Given the description of an element on the screen output the (x, y) to click on. 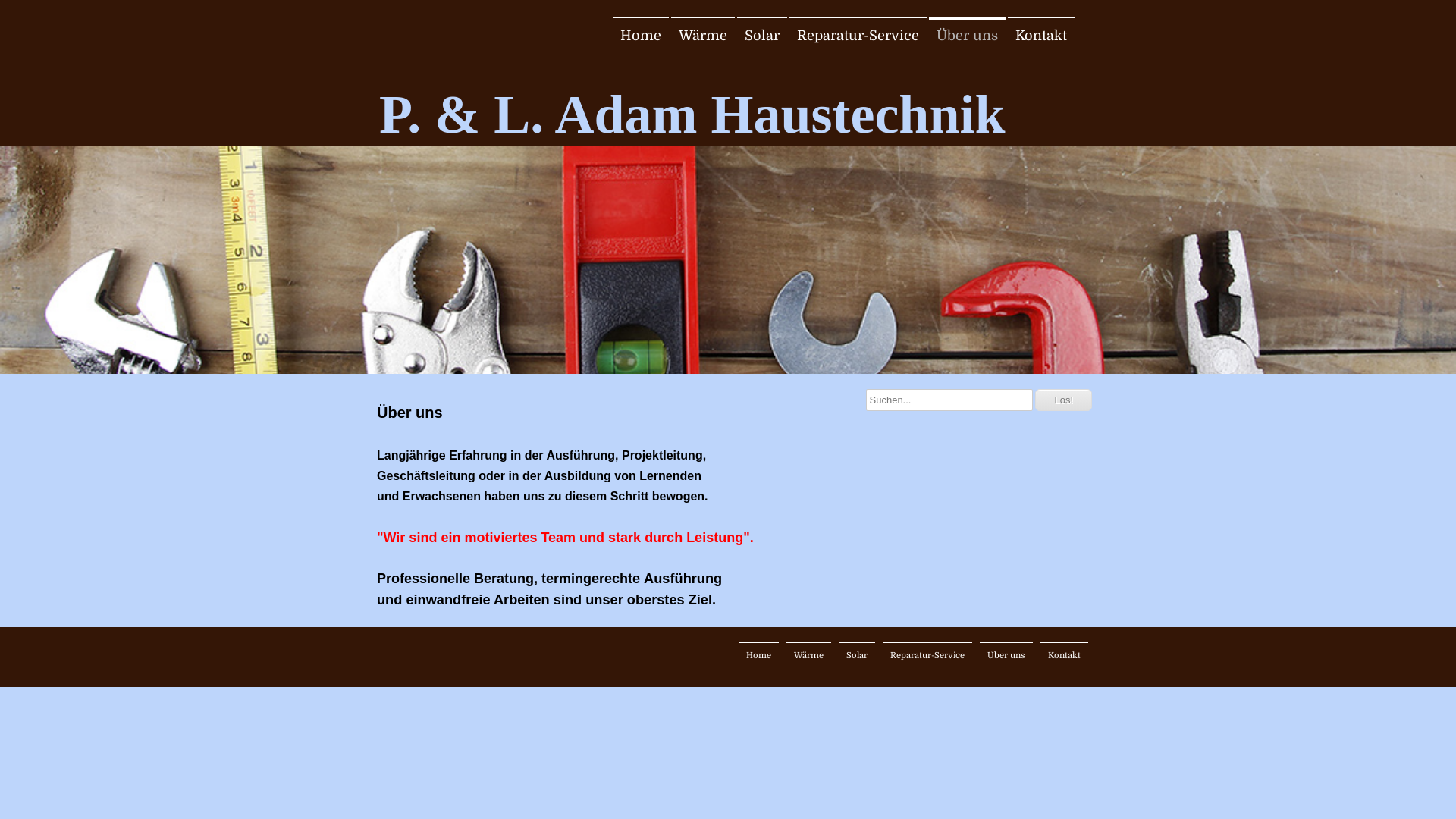
Solar Element type: text (856, 655)
Kontakt Element type: text (1064, 655)
Los! Element type: text (1063, 400)
Solar Element type: text (762, 35)
Reparatur-Service Element type: text (857, 35)
                      P. & L. Adam Haustechnik Element type: text (462, 73)
Home Element type: text (758, 655)
Reparatur-Service Element type: text (927, 655)
Home Element type: text (640, 35)
Kontakt Element type: text (1040, 35)
